Given the description of an element on the screen output the (x, y) to click on. 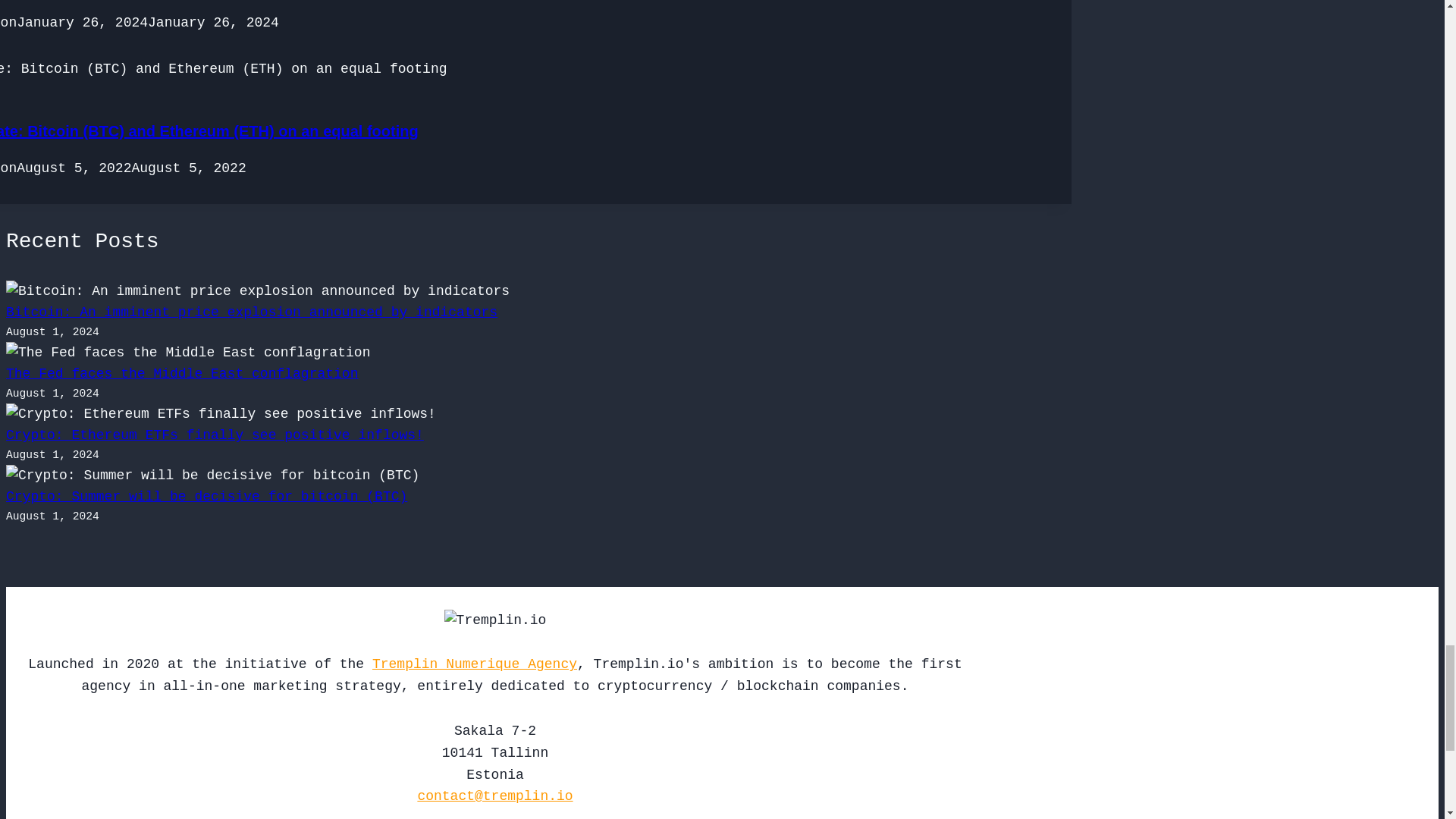
Crypto: Ethereum ETFs finally see positive inflows! (214, 435)
The Fed faces the Middle East conflagration (181, 373)
Tremplin Numerique Agency (474, 663)
Bitcoin: An imminent price explosion announced by indicators (251, 312)
